Given the description of an element on the screen output the (x, y) to click on. 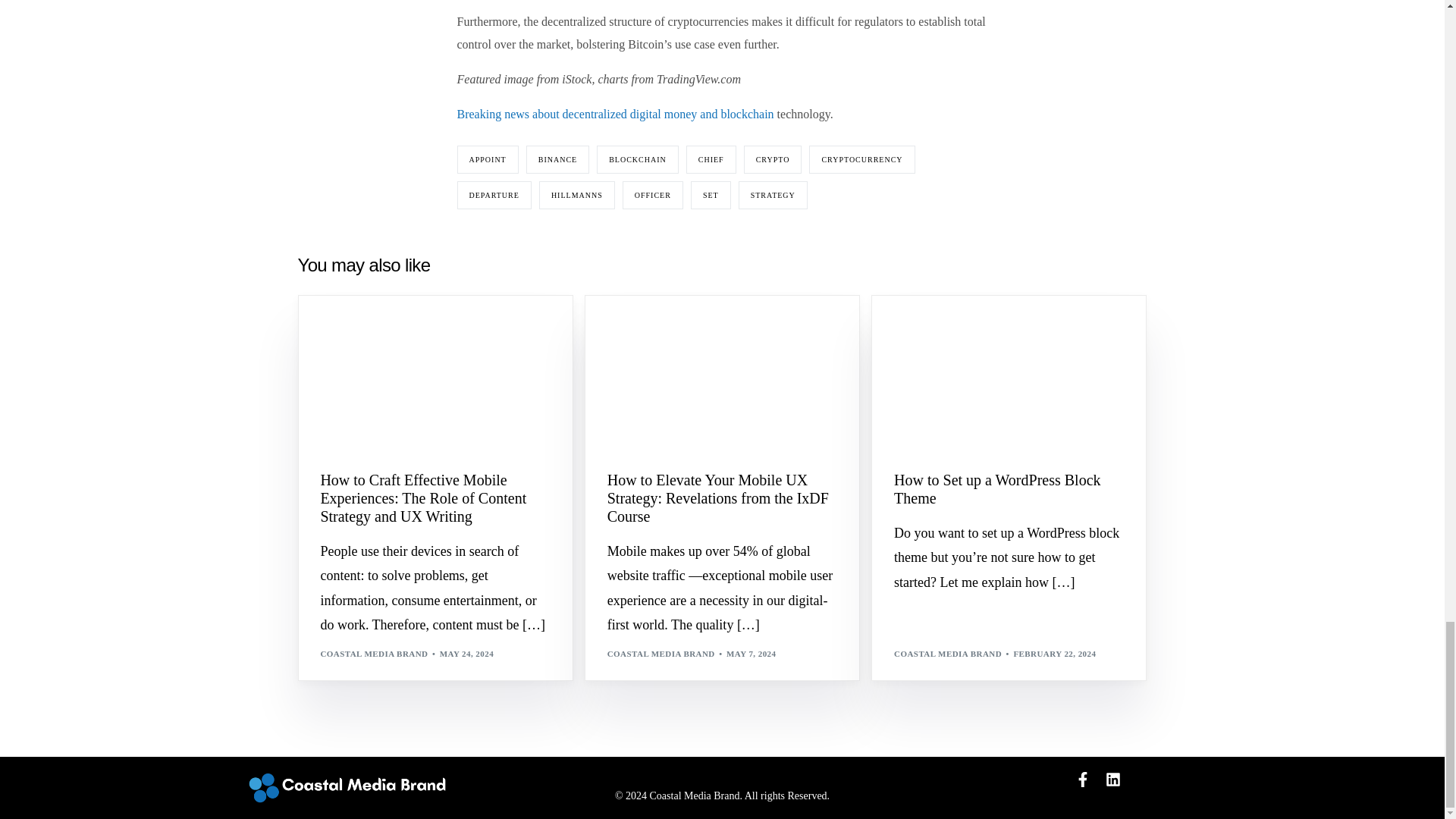
 View Post: How to Set up a WordPress Block Theme (1008, 373)
Posts by Coastal Media Brand (374, 653)
Posts by Coastal Media Brand (660, 653)
